Given the description of an element on the screen output the (x, y) to click on. 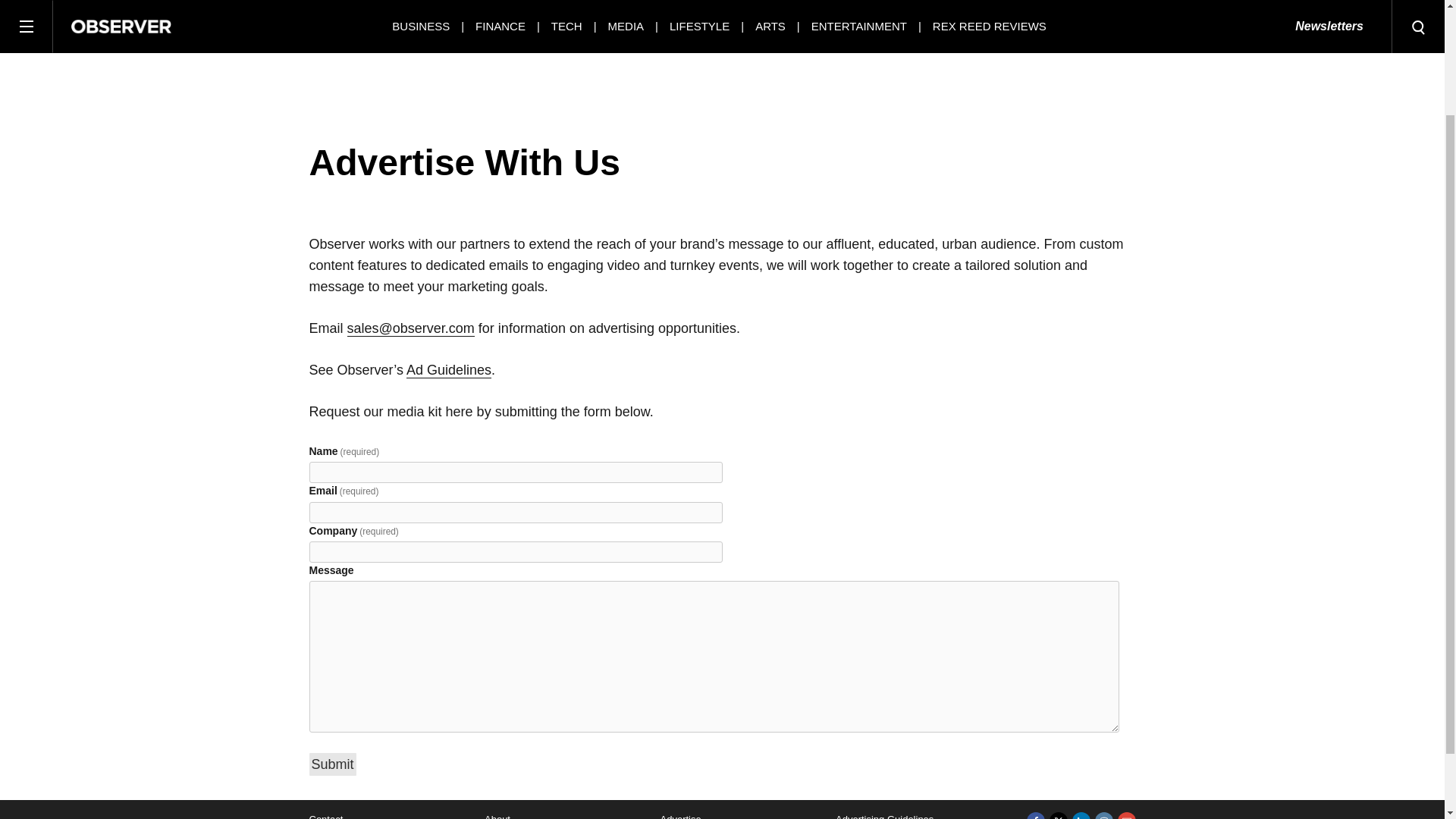
3rd party ad content (721, 37)
